Given the description of an element on the screen output the (x, y) to click on. 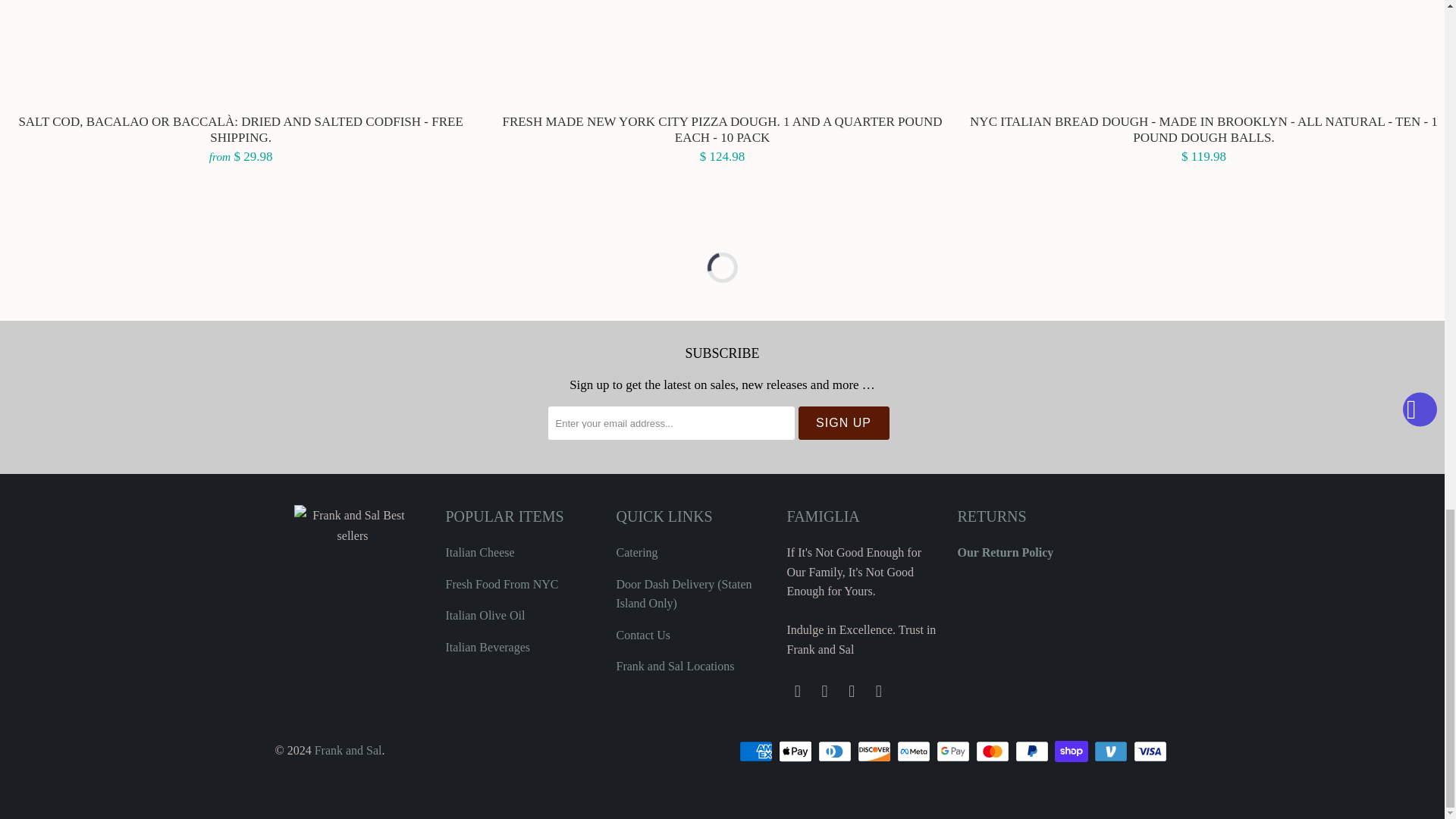
Meta Pay (914, 751)
Diners Club (834, 751)
Discover (875, 751)
Visa (1150, 751)
Venmo (1111, 751)
PayPal (1032, 751)
Google Pay (954, 751)
American Express (756, 751)
Sign Up (842, 422)
Mastercard (993, 751)
Apple Pay (795, 751)
Shop Pay (1072, 751)
